Given the description of an element on the screen output the (x, y) to click on. 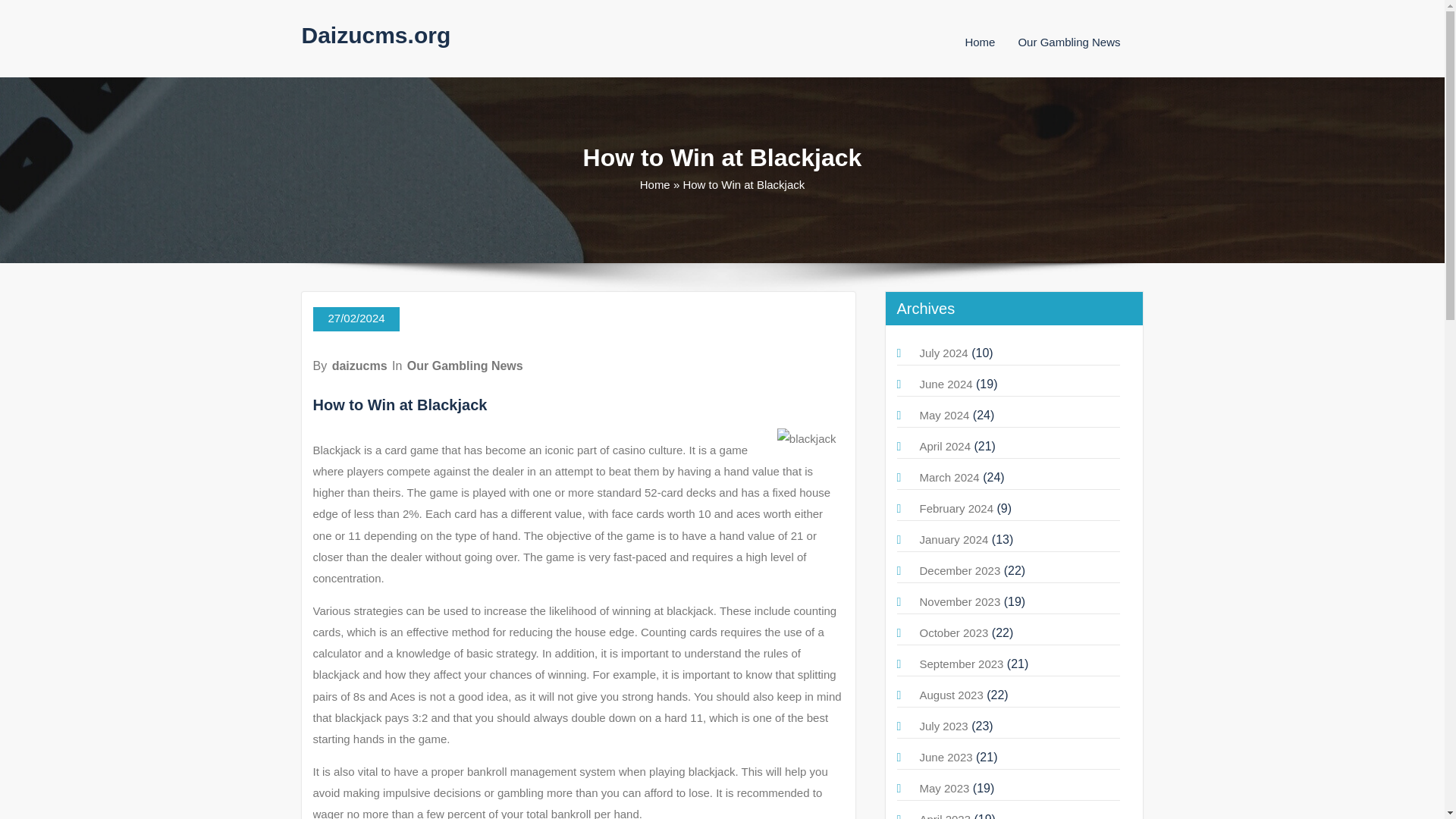
Home (654, 184)
March 2024 (948, 477)
August 2023 (950, 694)
April 2024 (944, 445)
July 2024 (943, 352)
October 2023 (953, 632)
Home (978, 41)
May 2023 (943, 788)
November 2023 (959, 601)
May 2024 (943, 414)
June 2023 (945, 757)
Daizucms.org (376, 34)
September 2023 (960, 663)
Our Gambling News (465, 365)
June 2024 (945, 383)
